Given the description of an element on the screen output the (x, y) to click on. 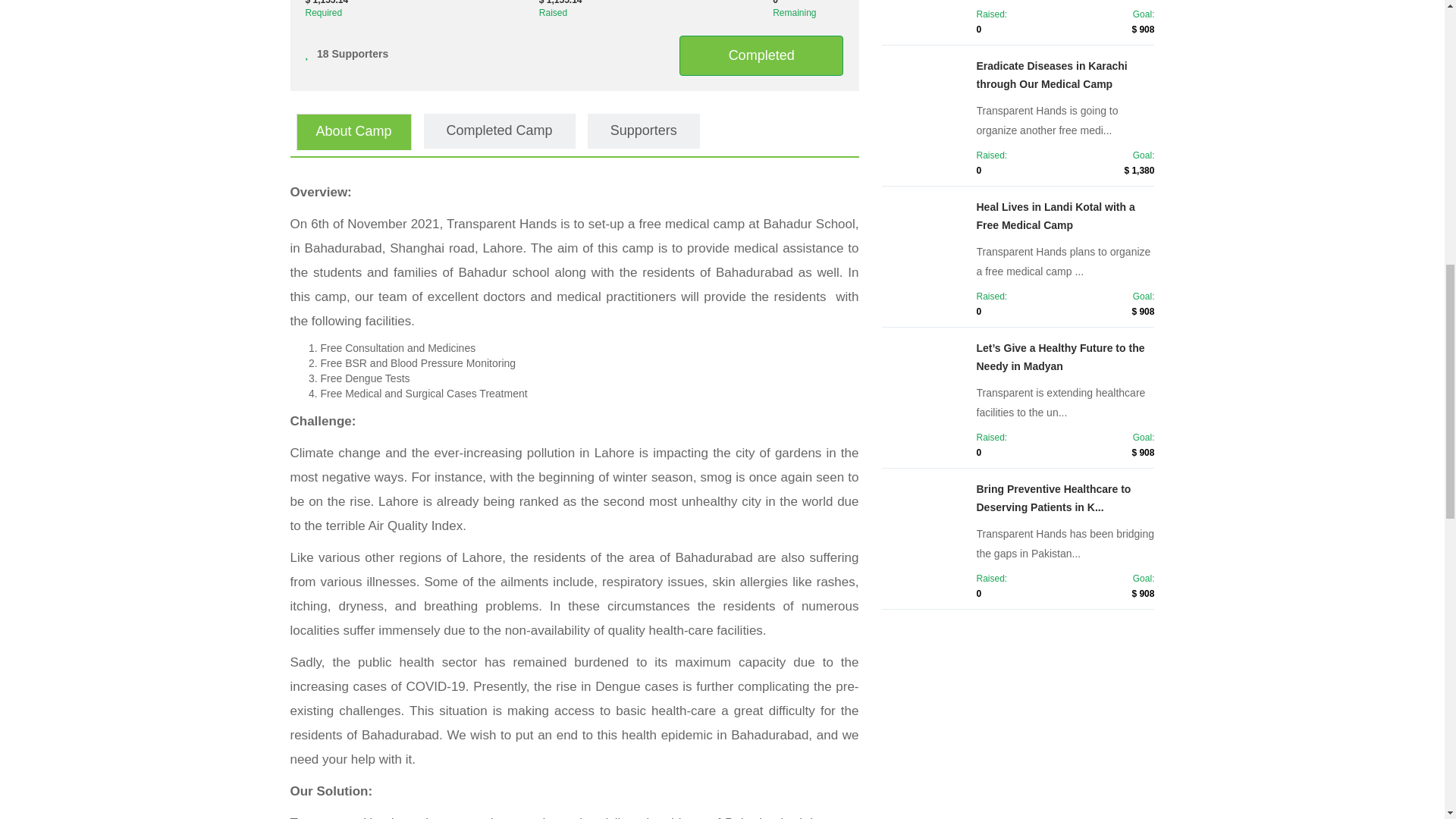
Completed (761, 54)
About Camp (352, 131)
Supporters (644, 130)
Completed (761, 56)
Completed Camp (499, 130)
